Given the description of an element on the screen output the (x, y) to click on. 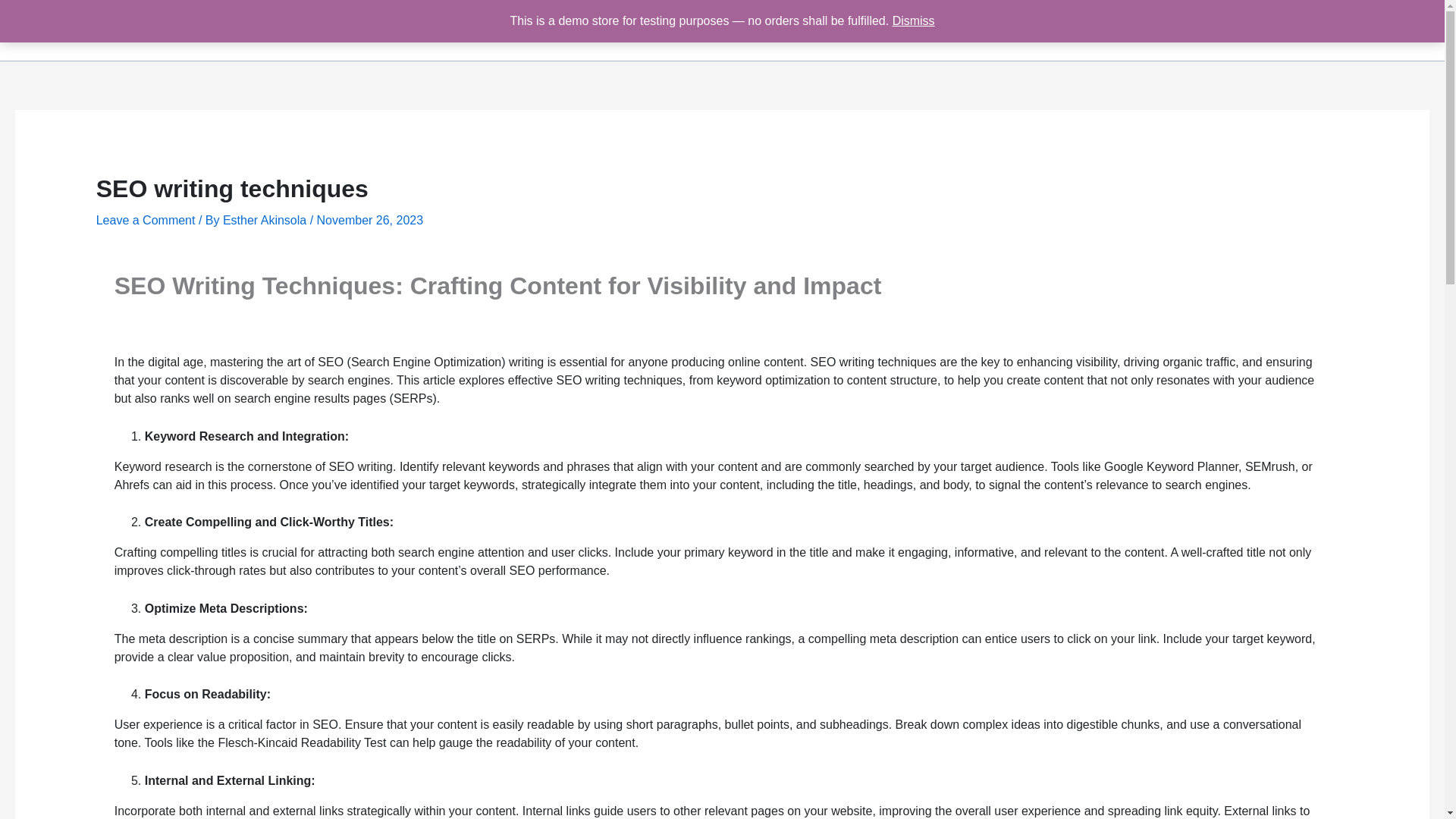
Privacy Policy (1379, 30)
About Me (1048, 30)
View all posts by Esther Akinsola (266, 219)
The Freelancers Bestie (122, 29)
Dismiss (913, 20)
Leave a Comment (145, 219)
Portfolio (1120, 30)
Home (981, 30)
Esther Akinsola (266, 219)
Disclaimer (1289, 30)
